Given the description of an element on the screen output the (x, y) to click on. 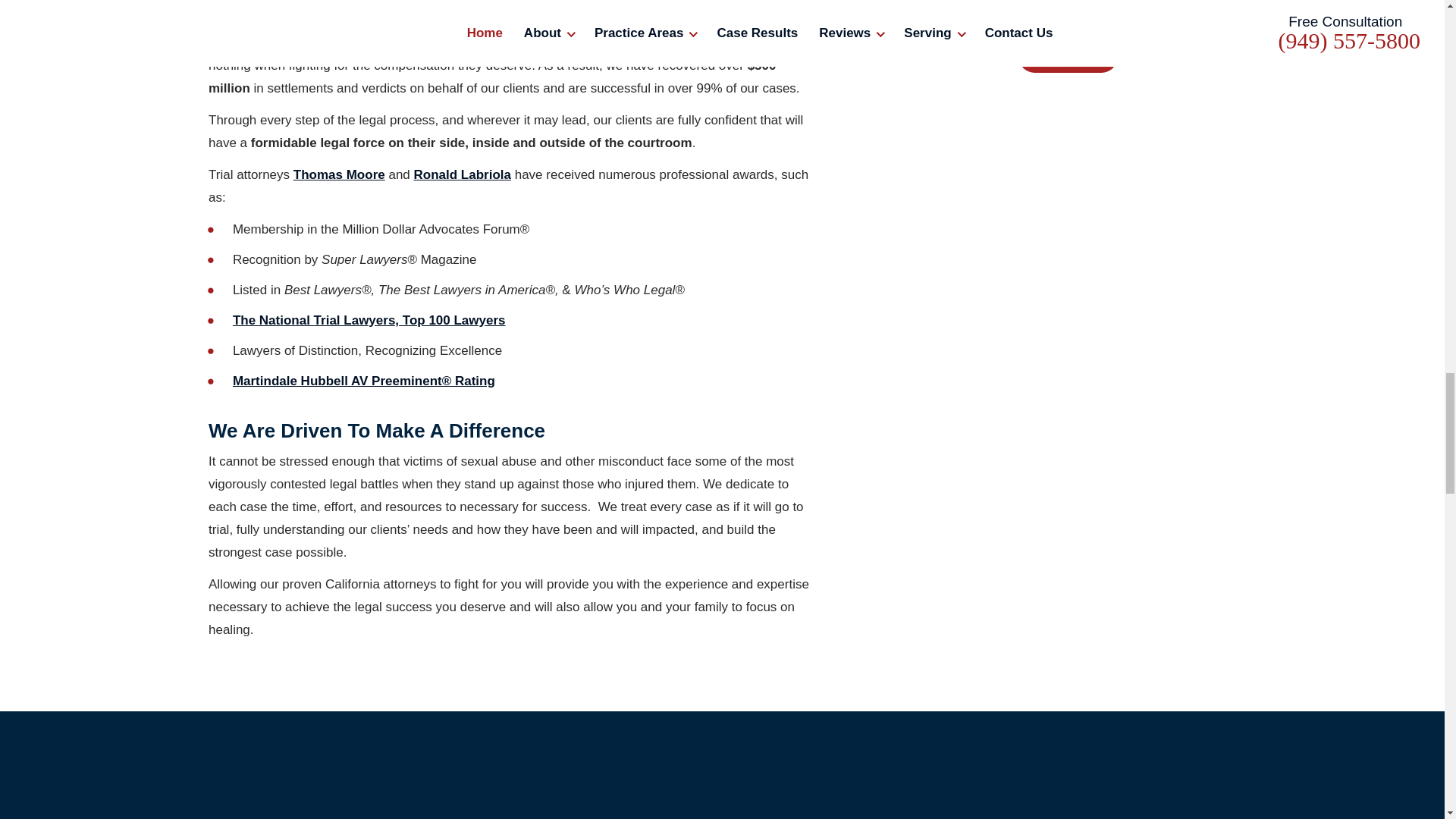
The National Trial Lawyers, Top 100 Lawyers (368, 319)
Thomas Moore (339, 174)
Ronald Labriola (462, 174)
